Given the description of an element on the screen output the (x, y) to click on. 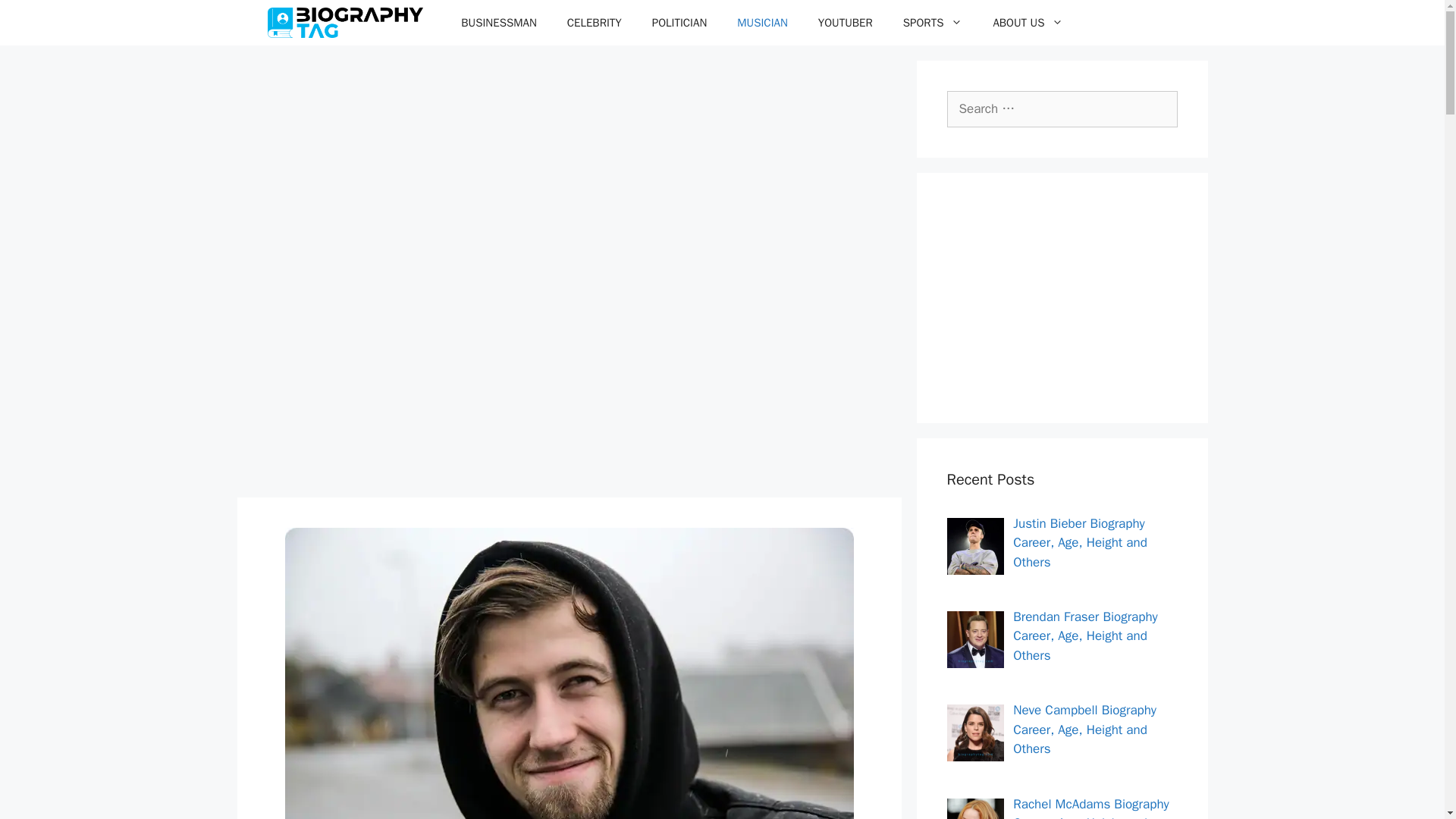
Search (35, 18)
Rachel McAdams Biography Career, Age, Height and Others (1091, 807)
MUSICIAN (762, 22)
Search for: (1061, 108)
Brendan Fraser Biography Career, Age, Height and Others (1085, 636)
BUSINESSMAN (498, 22)
Advertisement (1061, 298)
Justin Bieber Biography Career, Age, Height and Others (1080, 542)
